Given the description of an element on the screen output the (x, y) to click on. 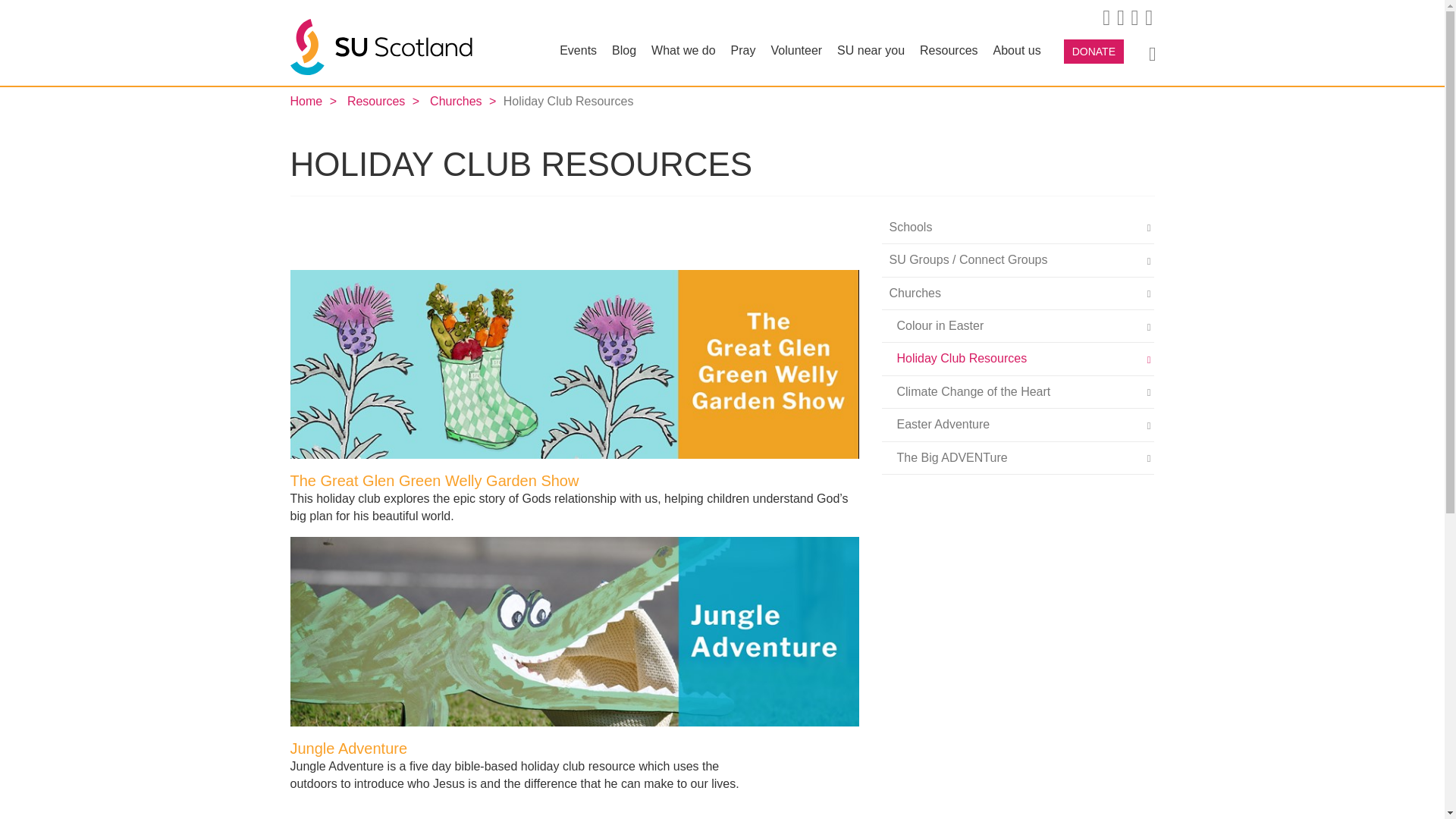
What we do (682, 60)
Blog (623, 60)
Events (577, 60)
The Great Glen Green Welly Garden Show (574, 364)
Jungle Adventure Holiday Club (574, 630)
